Given the description of an element on the screen output the (x, y) to click on. 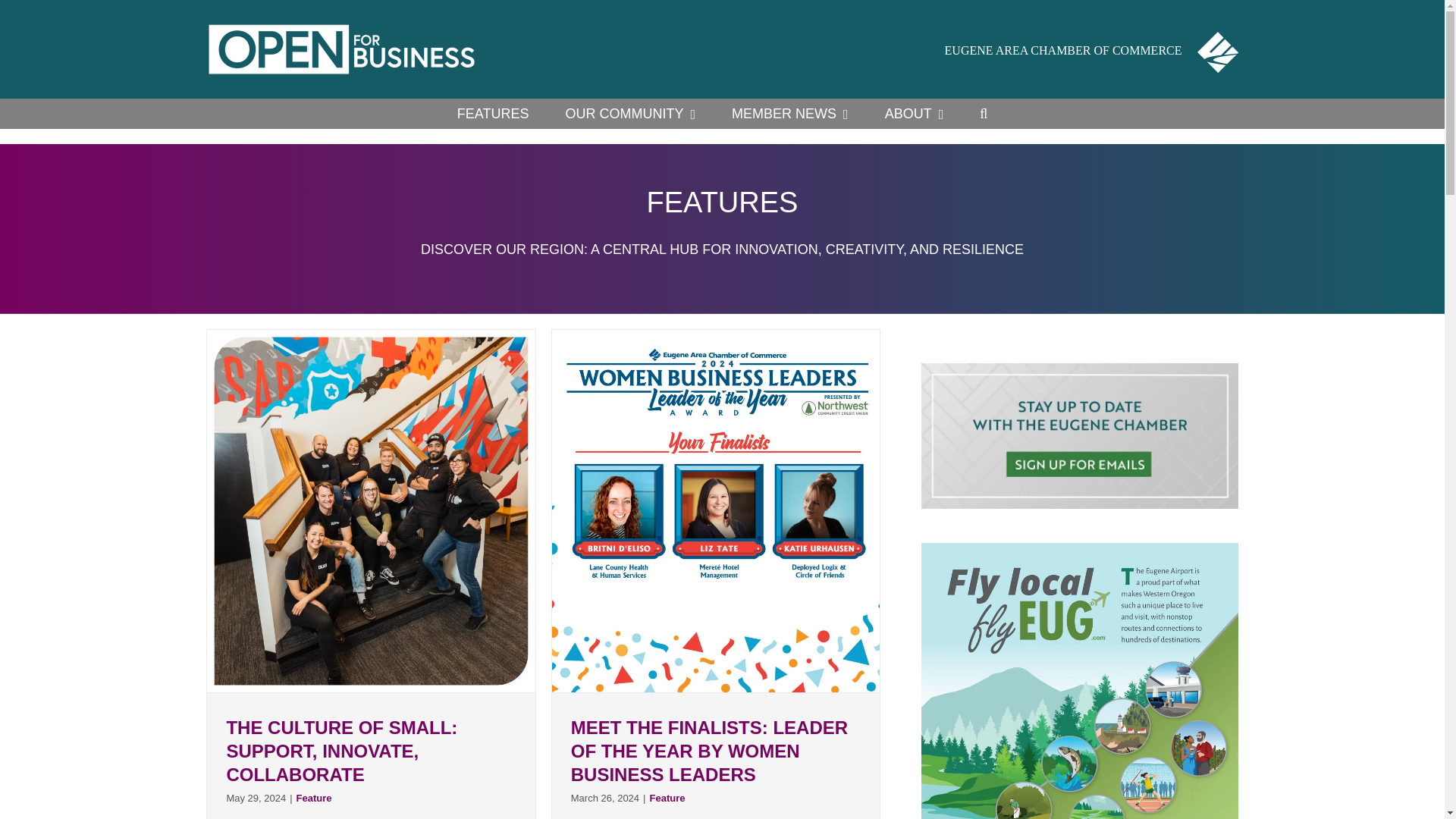
Feature (666, 797)
FEATURES (493, 113)
ABOUT (914, 113)
OUR COMMUNITY (629, 113)
THE CULTURE OF SMALL: SUPPORT, INNOVATE, COLLABORATE (341, 750)
Feature (314, 797)
EUGENE AREA CHAMBER OF COMMERCE (1091, 49)
MEMBER NEWS (790, 113)
